Given the description of an element on the screen output the (x, y) to click on. 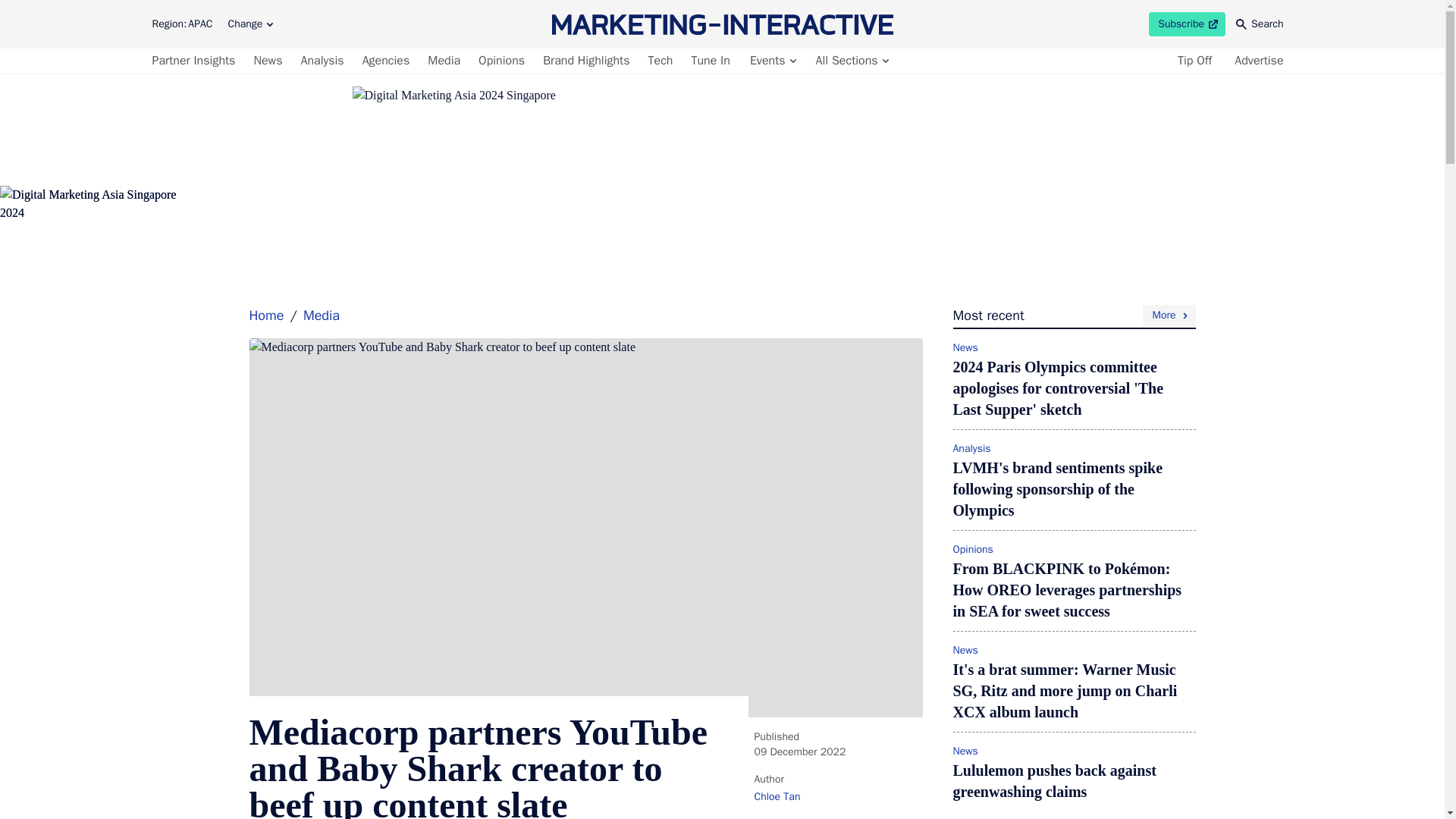
Media (443, 60)
News (267, 60)
Opinions (501, 60)
Tune In (709, 60)
Brand Highlights (585, 60)
All Sections (851, 60)
Change (1186, 24)
Search (250, 24)
Analysis (1260, 24)
Tech (321, 60)
Agencies (660, 60)
Events (386, 60)
Digital Marketing Asia 2024 Singapore (772, 60)
